Given the description of an element on the screen output the (x, y) to click on. 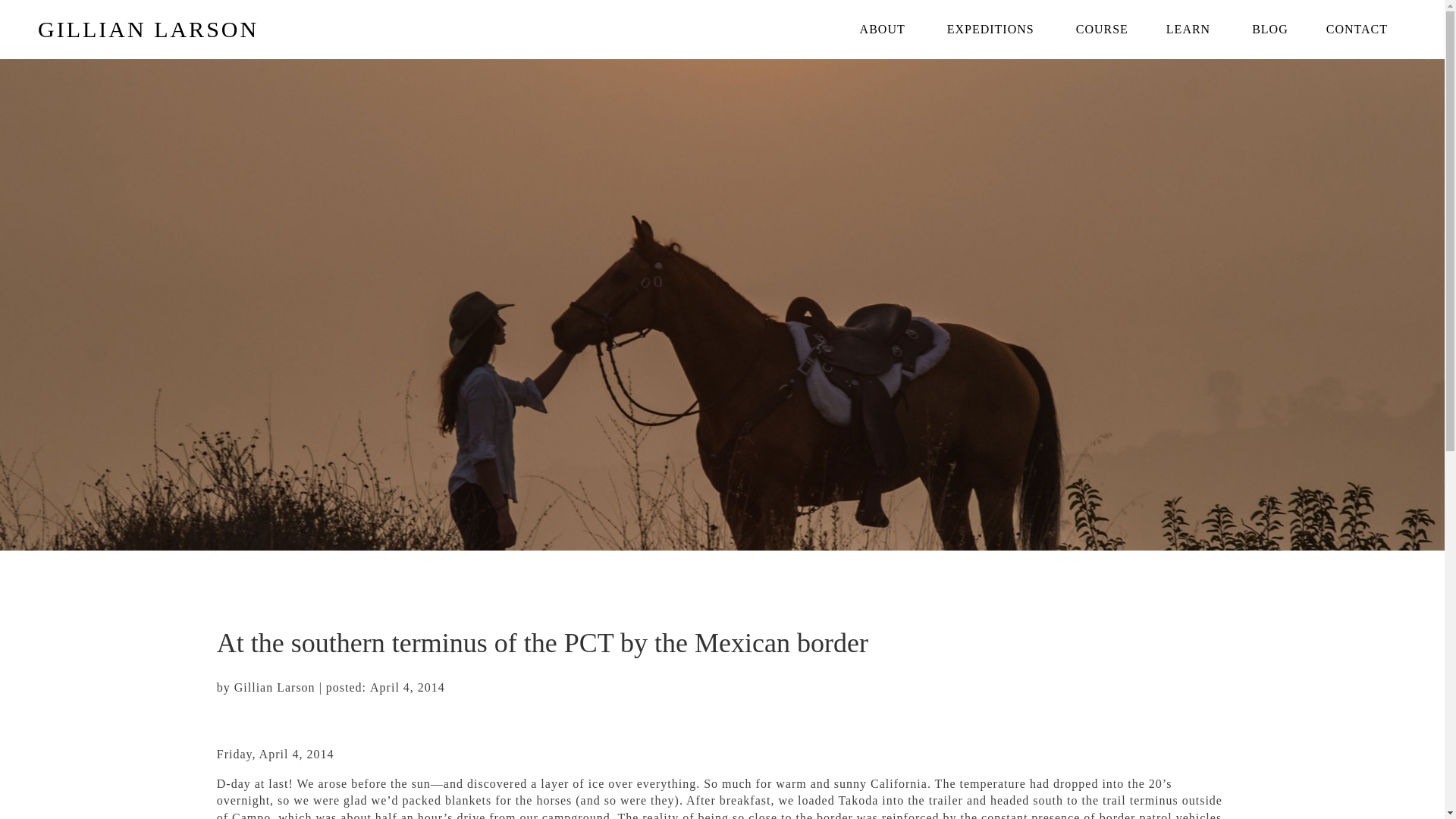
COURSE (1102, 29)
EXPEDITIONS (992, 29)
LEARN (1190, 29)
ABOUT (884, 29)
BLOG (1270, 29)
CONTACT (1356, 29)
GILLIAN LARSON (148, 29)
